Given the description of an element on the screen output the (x, y) to click on. 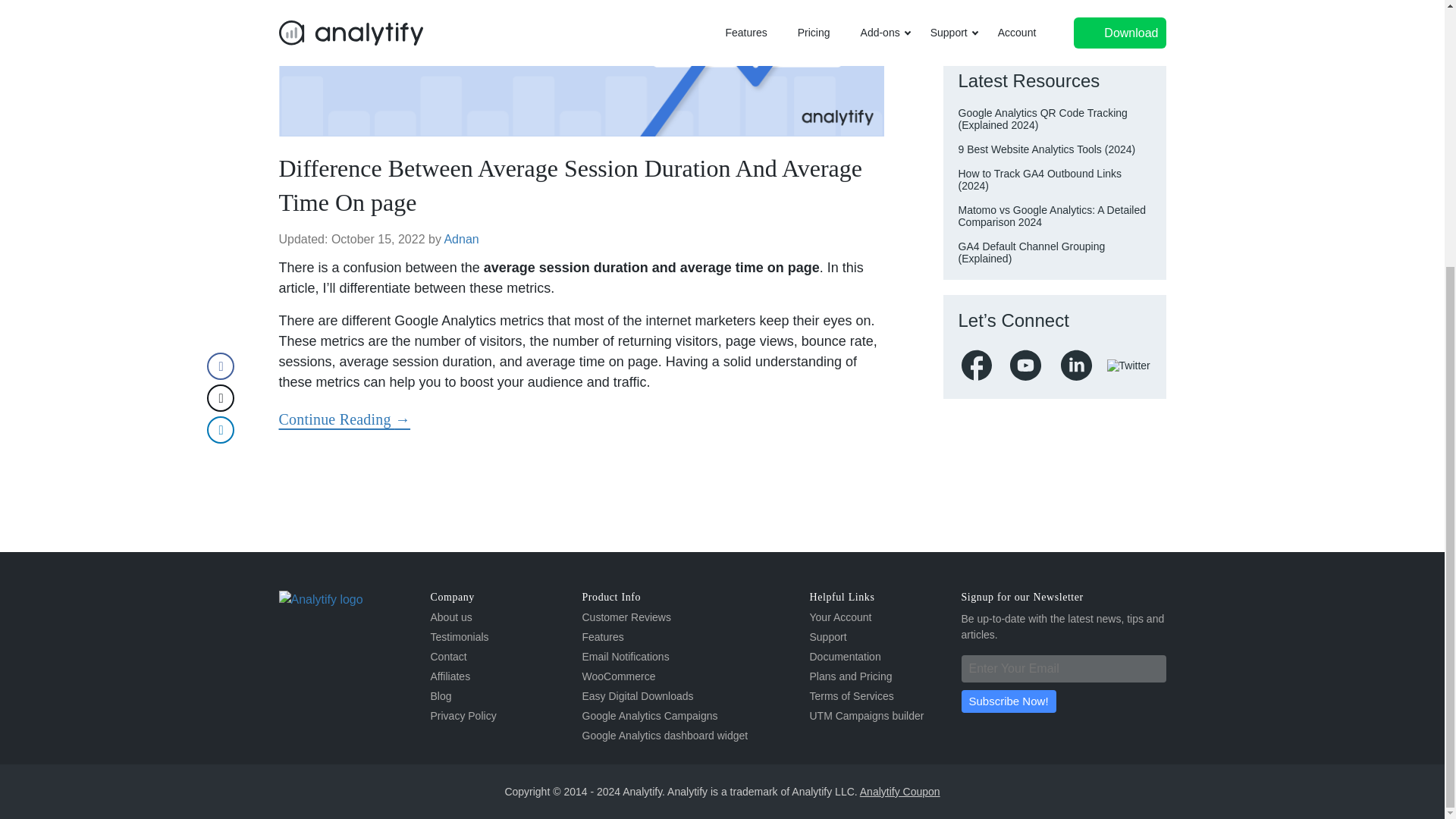
Become an Affiliate and earn money (450, 676)
Matomo vs Google Analytics: A Detailed Comparison 2024 (1051, 215)
Search (1143, 20)
Subscribe Now! (1008, 701)
Adnan (461, 238)
Search (1143, 20)
Search (1143, 20)
